Given the description of an element on the screen output the (x, y) to click on. 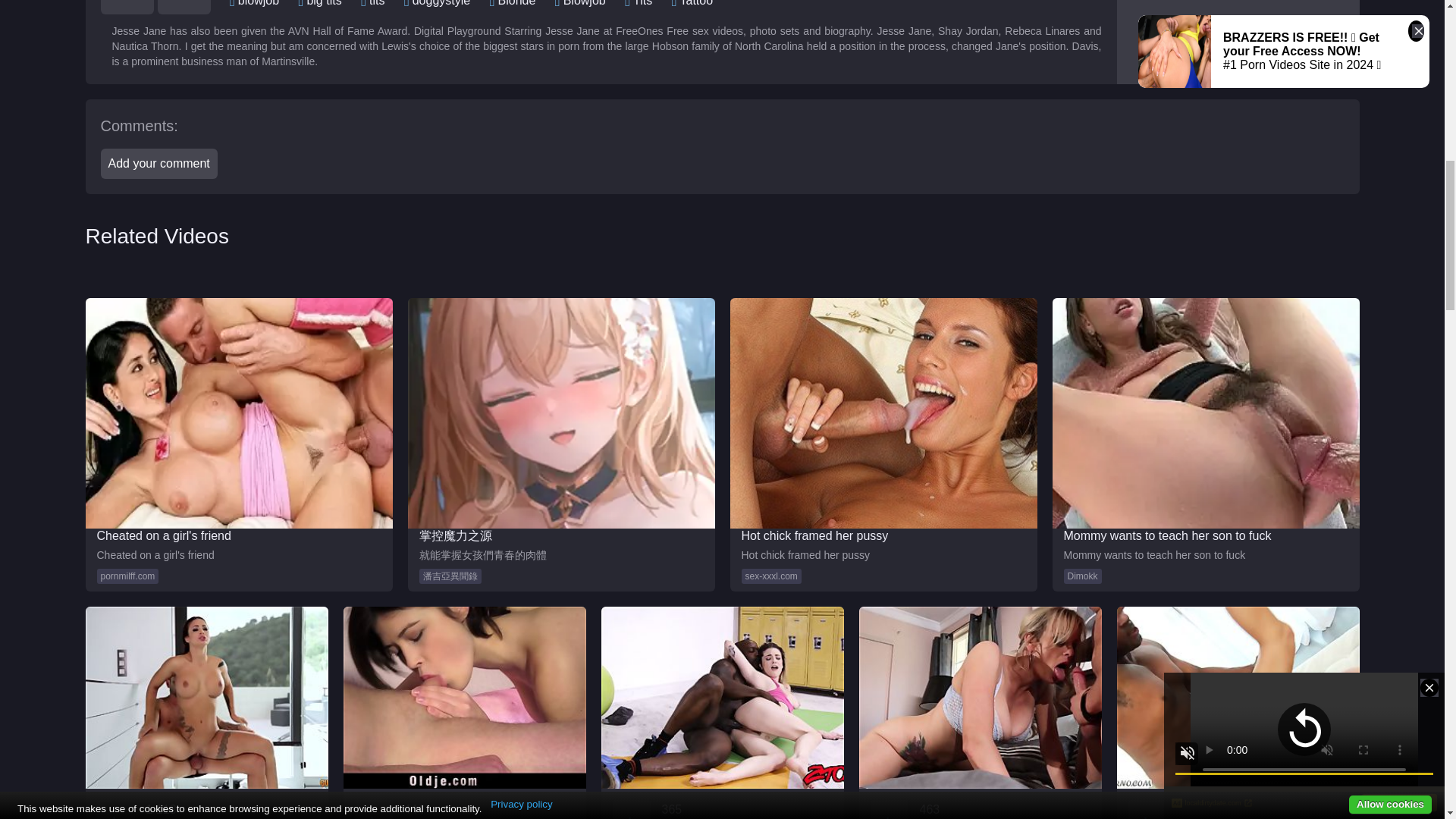
Dislike! (184, 7)
Blowjob (584, 3)
Tattoo (696, 3)
hefty natural breasts teenager wagging (463, 712)
Stormy Daniels makes this guys (979, 712)
Blonde (516, 3)
C.S.I. Crime scene a gonzo Parody with (205, 712)
blowjob (258, 3)
slutty blonde Nina Elle with huge fun (1237, 712)
tits (376, 3)
Dahlia Sky interracially torn up and fed (721, 712)
big tits (322, 3)
